Given the description of an element on the screen output the (x, y) to click on. 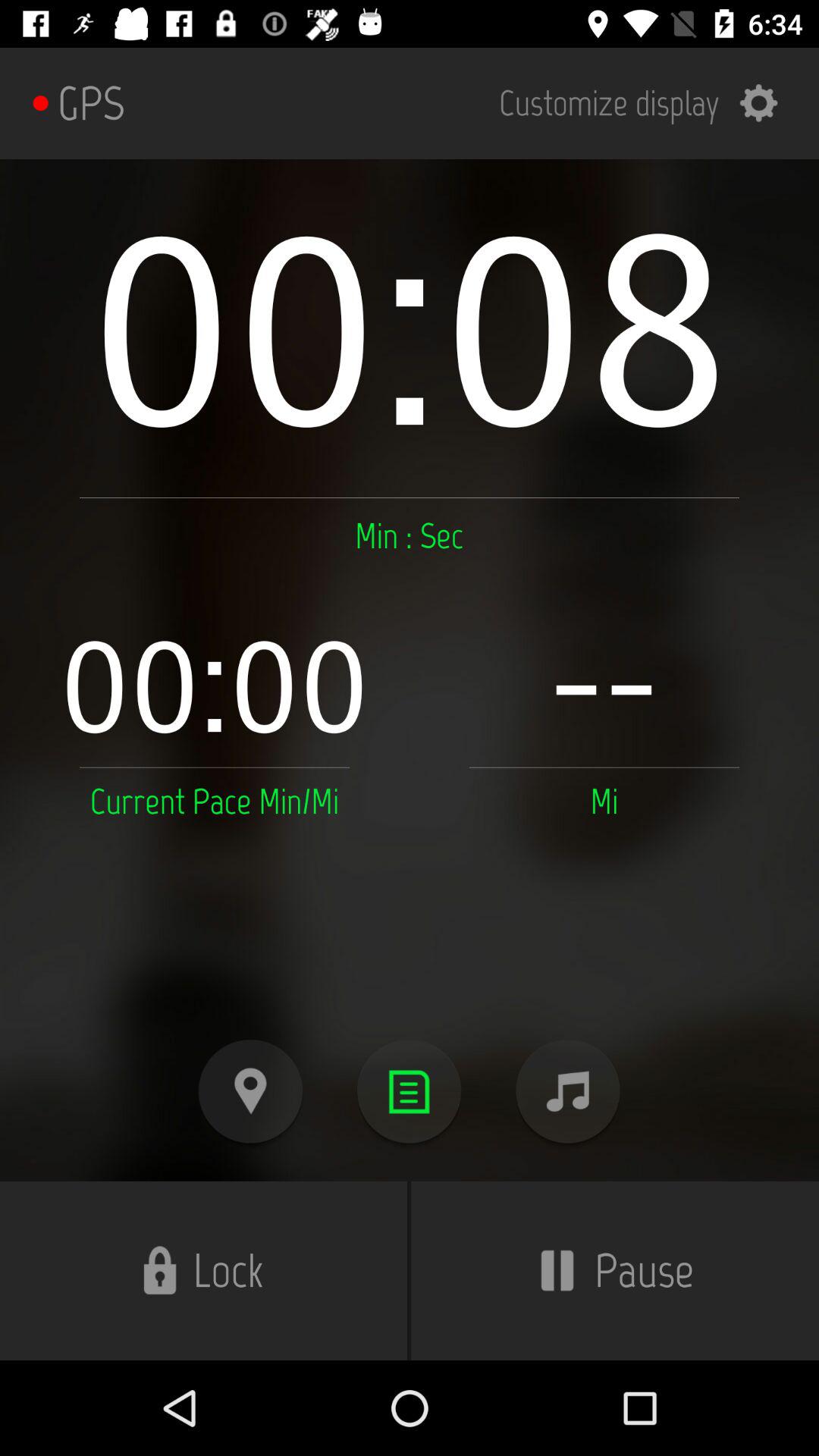
click item to the right of the gps (648, 103)
